Given the description of an element on the screen output the (x, y) to click on. 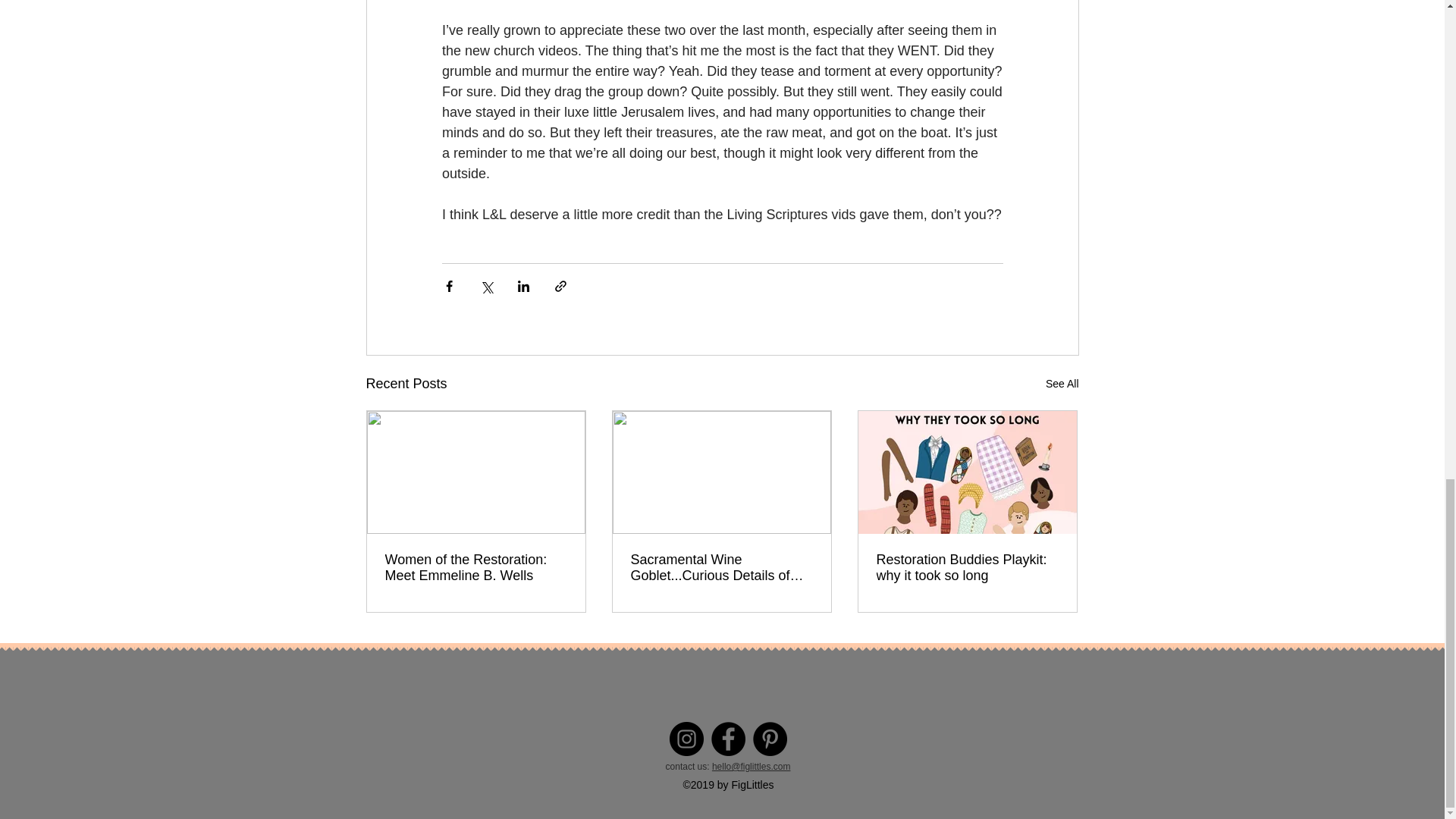
Sacramental Wine Goblet...Curious Details of the Restoration (721, 567)
Restoration Buddies Playkit: why it took so long (967, 567)
Women of the Restoration: Meet Emmeline B. Wells (476, 567)
See All (1061, 383)
